Given the description of an element on the screen output the (x, y) to click on. 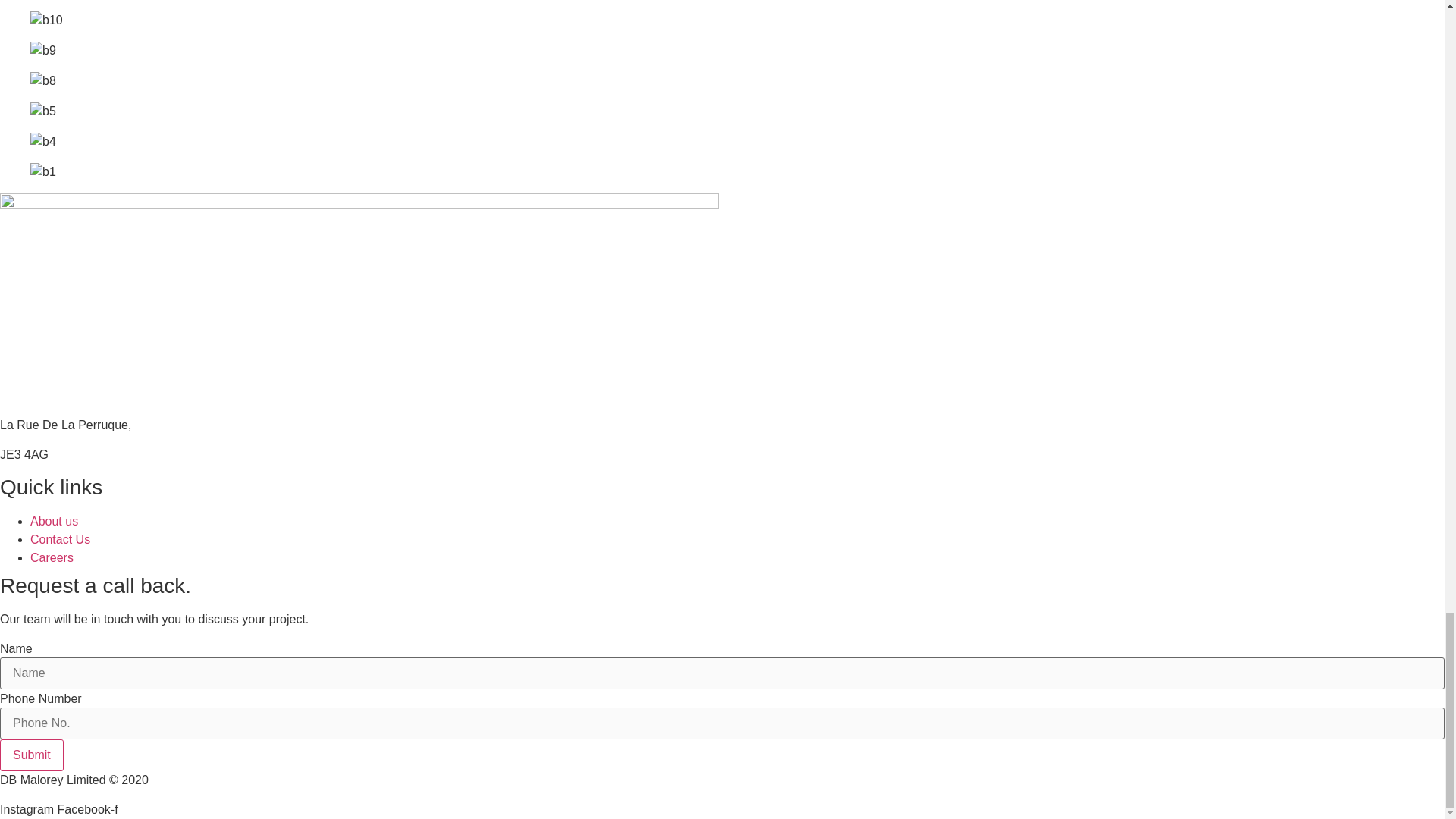
Careers (52, 557)
Contact Us (60, 539)
About us (54, 521)
Facebook-f (87, 809)
Instagram (29, 809)
Submit (32, 755)
